Given the description of an element on the screen output the (x, y) to click on. 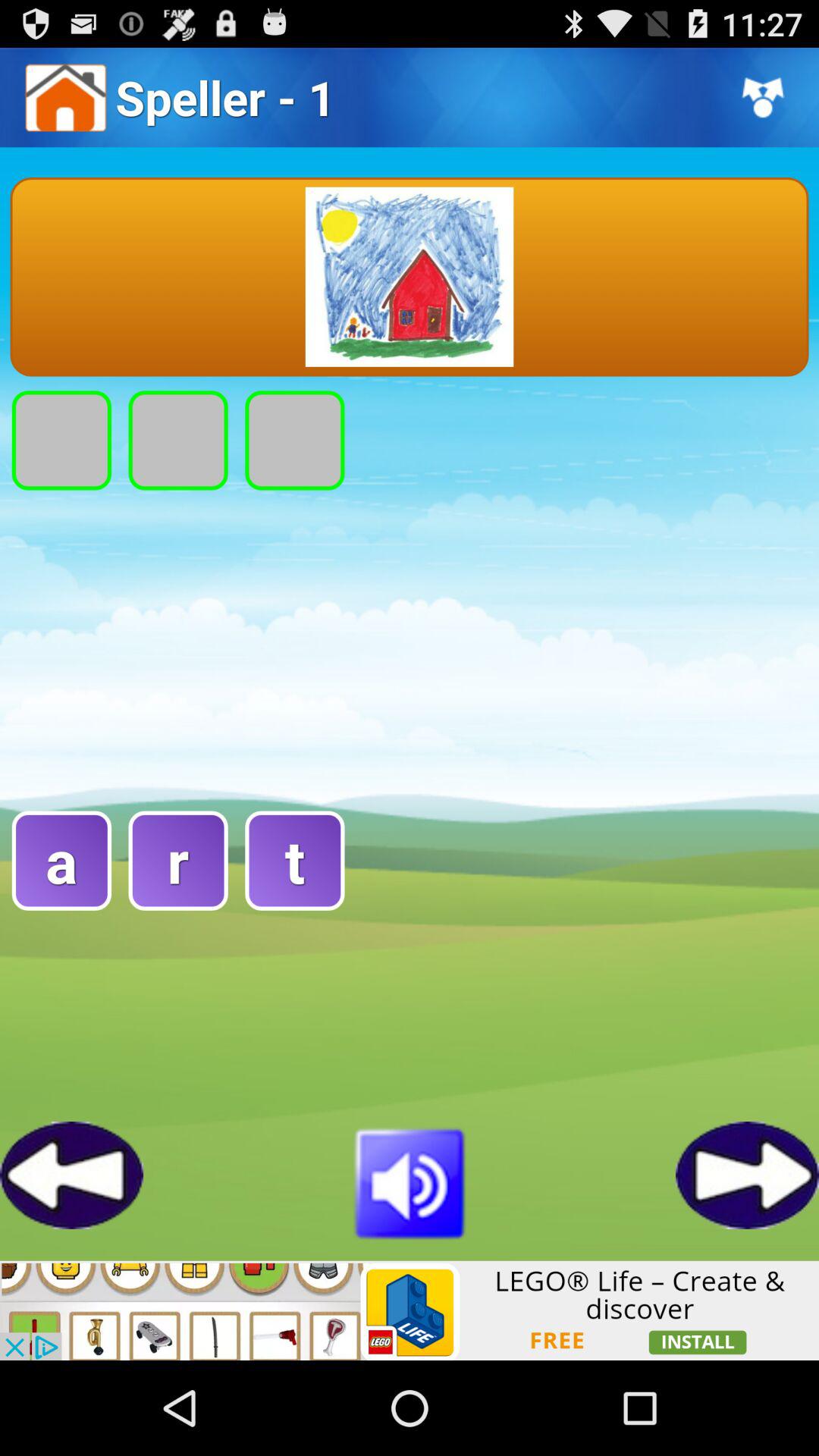
game go back button (71, 1175)
